Given the description of an element on the screen output the (x, y) to click on. 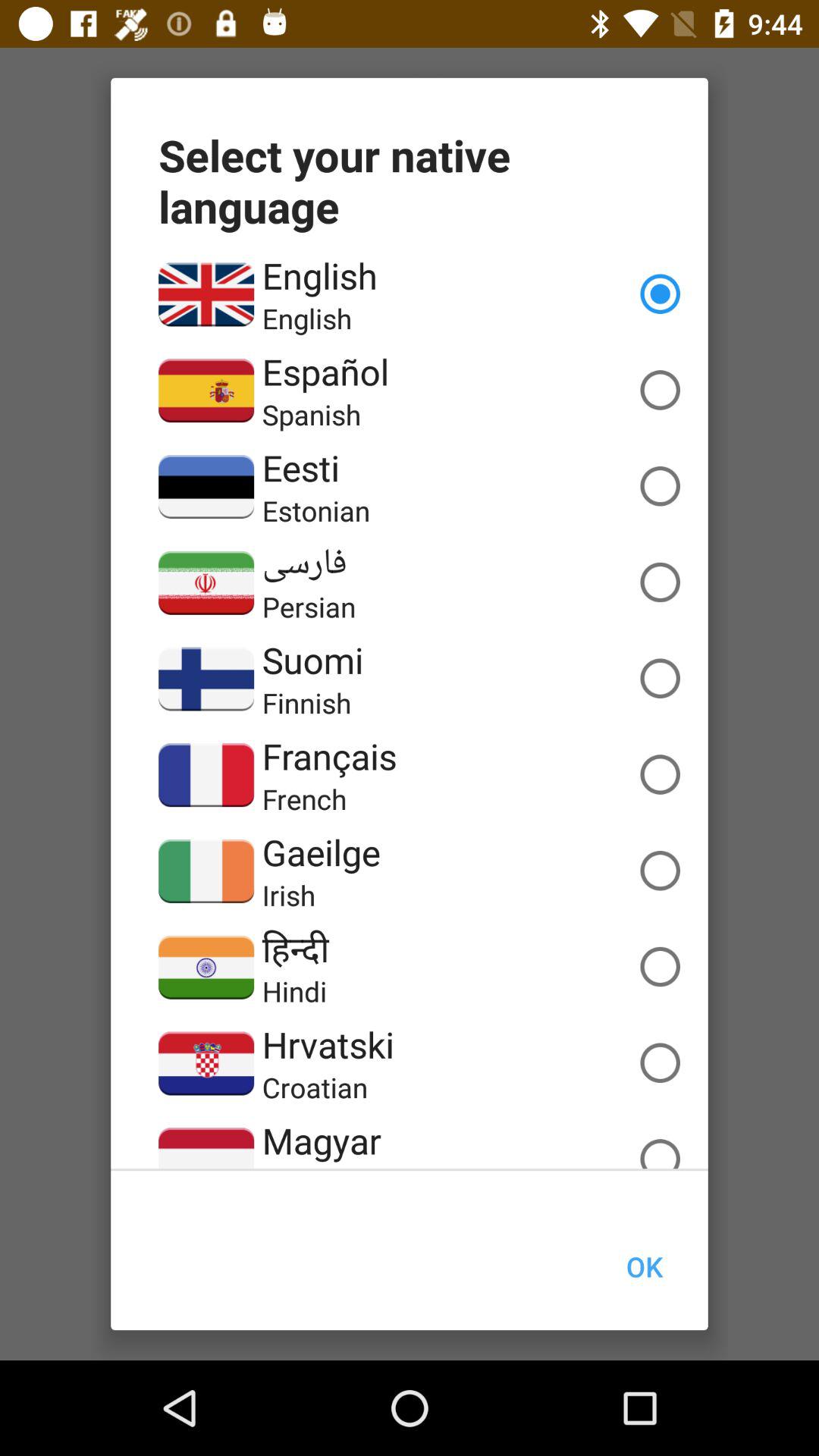
turn off the persian item (309, 606)
